Given the description of an element on the screen output the (x, y) to click on. 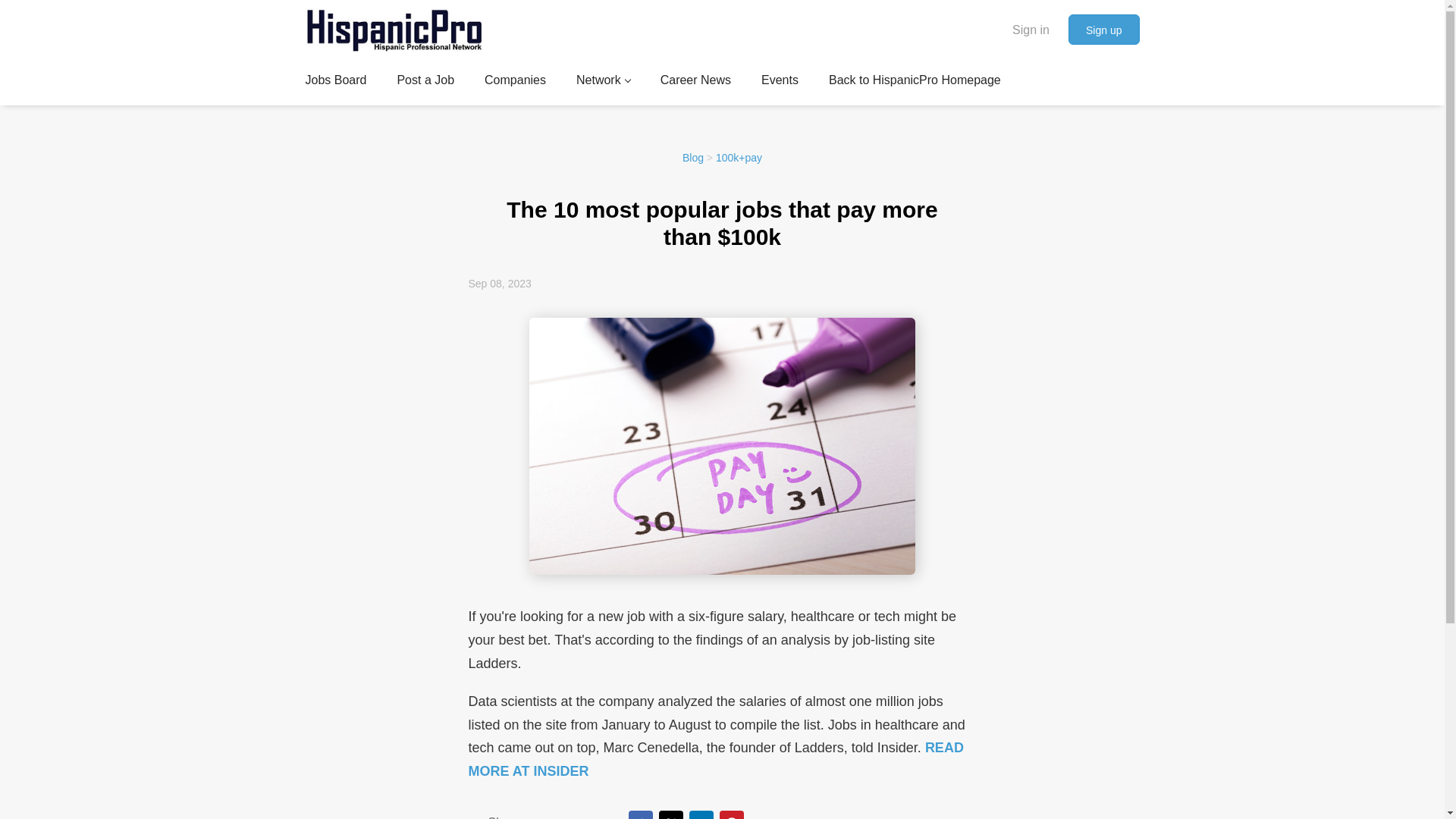
Network (603, 82)
Sign up (1103, 29)
Blog (692, 157)
Events (779, 82)
Sign in (1031, 28)
READ MORE AT INSIDER (715, 759)
Career News (695, 82)
Post a Job (425, 82)
Companies (515, 82)
Back to HispanicPro Homepage (914, 82)
Jobs Board (335, 82)
